Given the description of an element on the screen output the (x, y) to click on. 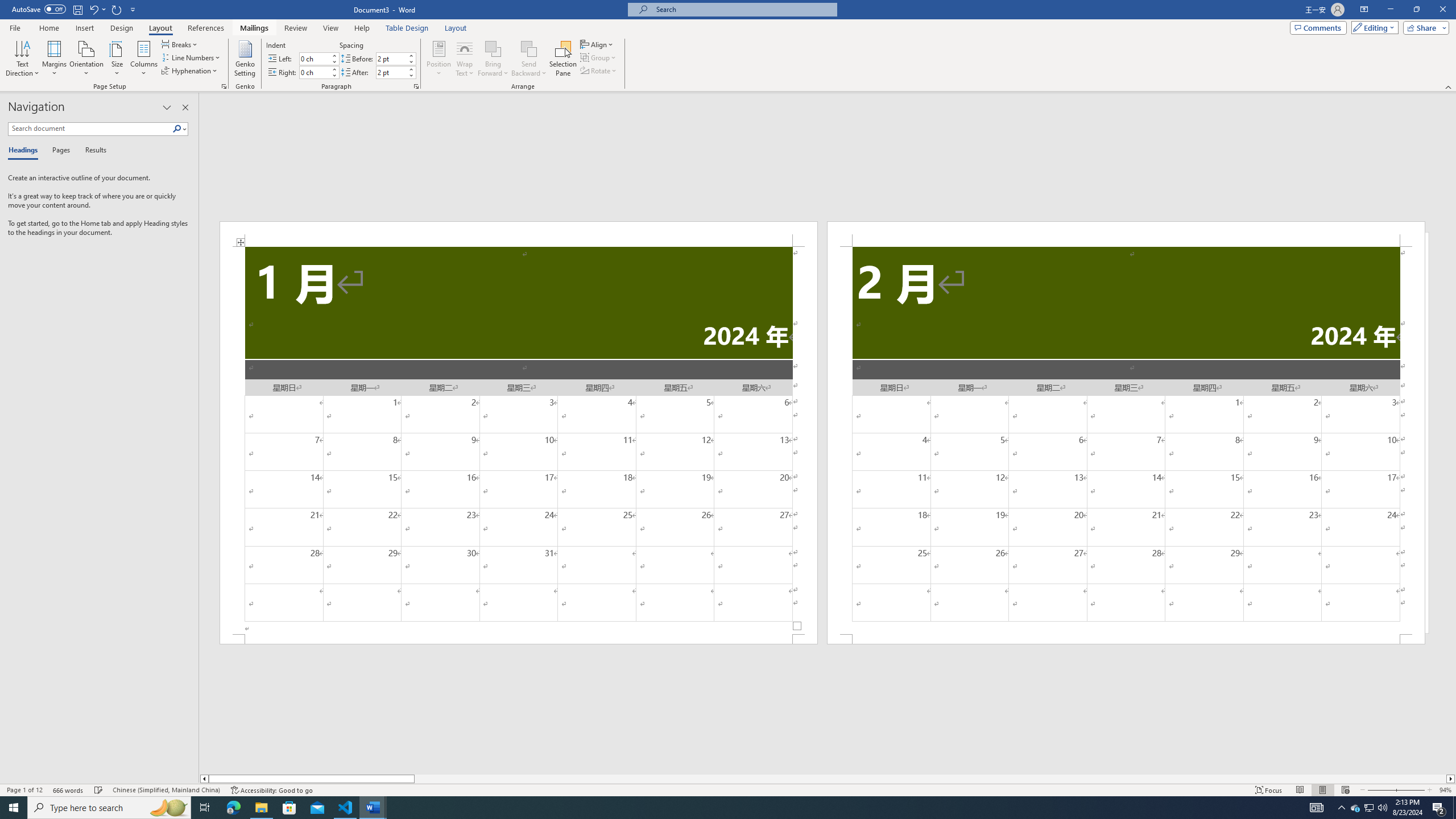
References (205, 28)
Text Direction (22, 58)
Headings (25, 150)
Minimize (1390, 9)
File Tab (15, 27)
Column left (203, 778)
Send Backward (528, 58)
Focus  (1268, 790)
Accessibility Checker Accessibility: Good to go (271, 790)
Less (411, 75)
Restore Down (1416, 9)
Close pane (185, 107)
Page 1 content (518, 439)
